Given the description of an element on the screen output the (x, y) to click on. 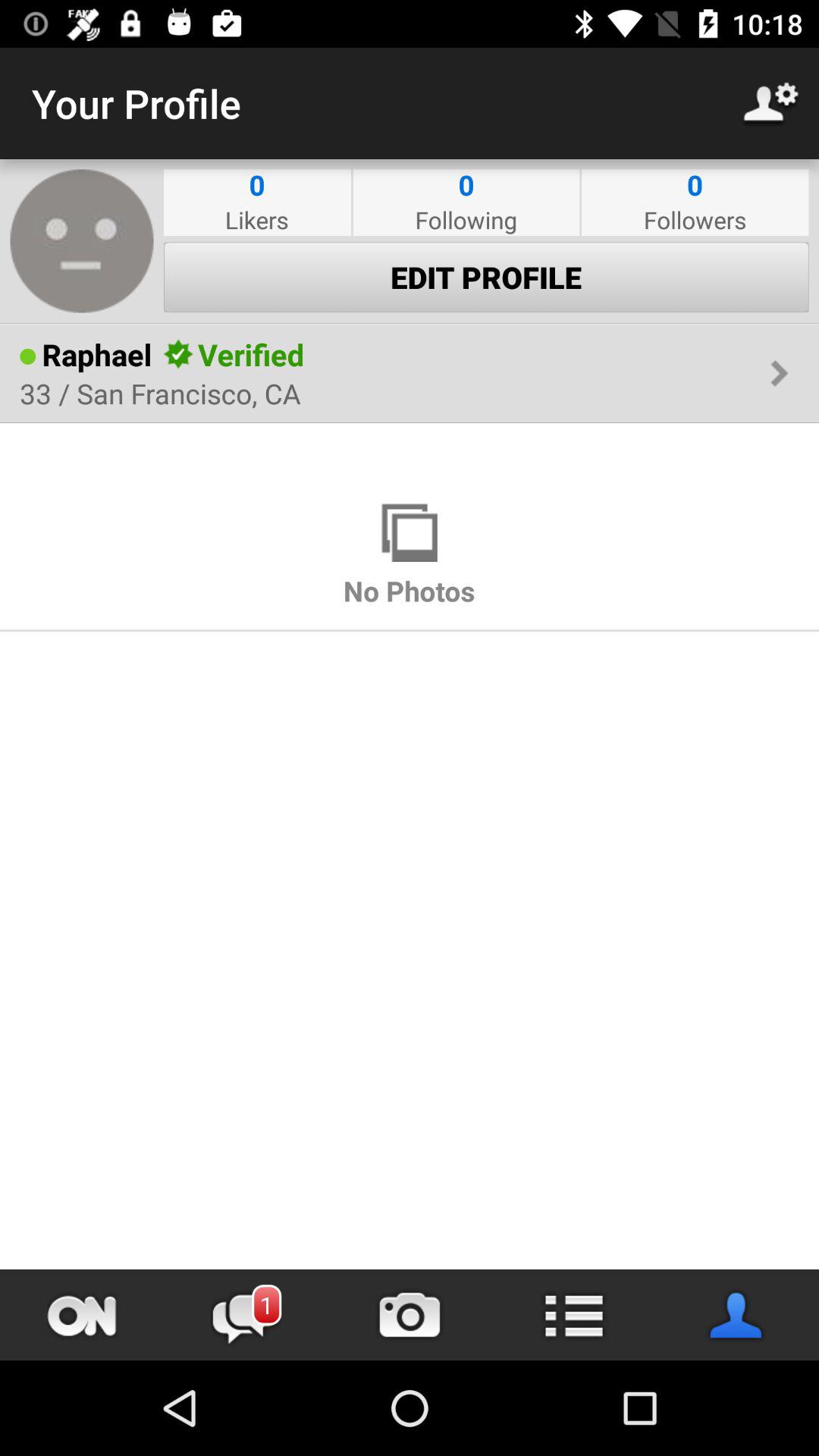
turn on item to the right of the your profile (771, 103)
